Given the description of an element on the screen output the (x, y) to click on. 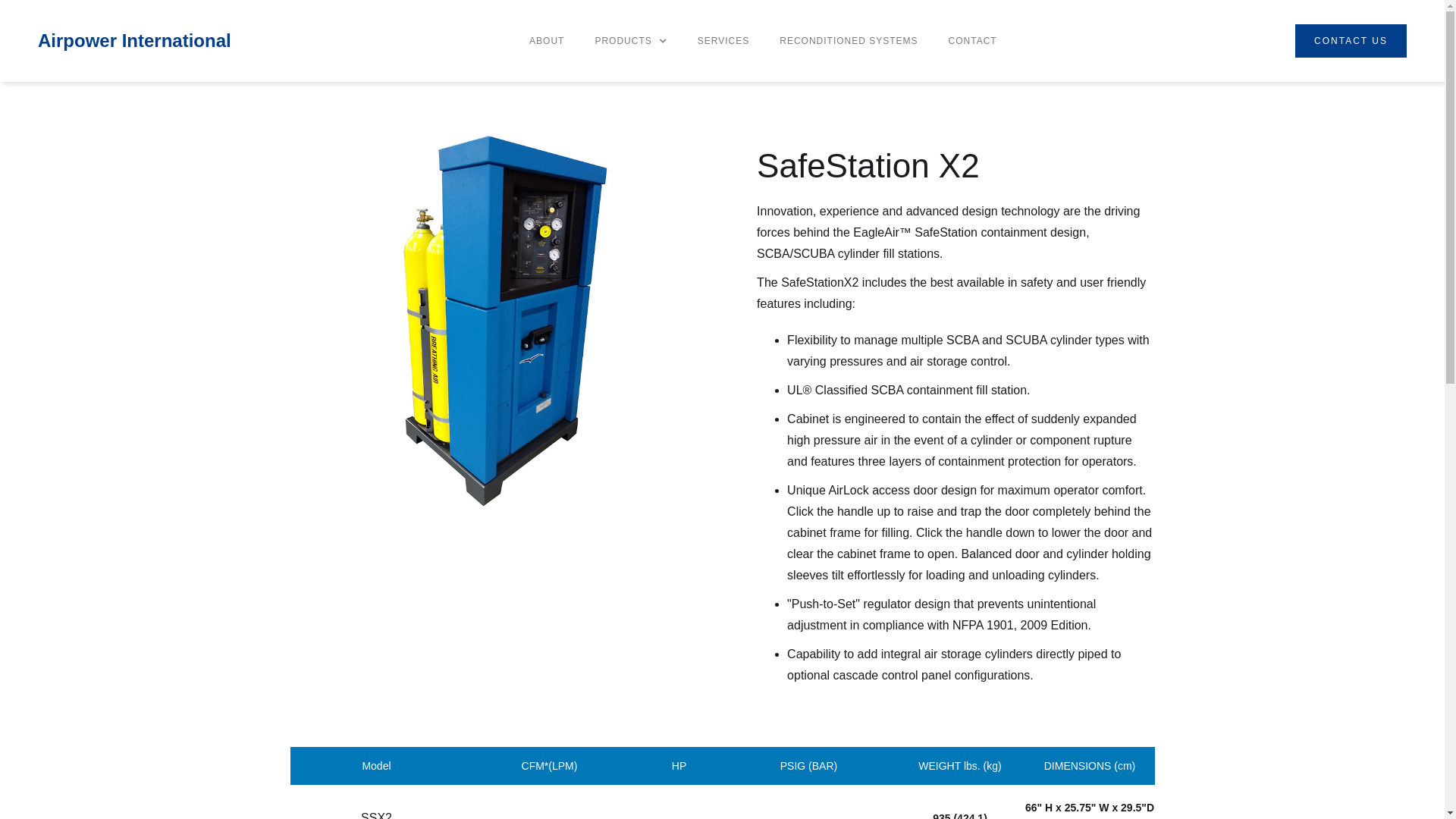
CONTACT (972, 40)
SERVICES (723, 40)
ABOUT (546, 40)
RECONDITIONED SYSTEMS (848, 40)
Airpower International (134, 40)
CONTACT US (1350, 40)
